Given the description of an element on the screen output the (x, y) to click on. 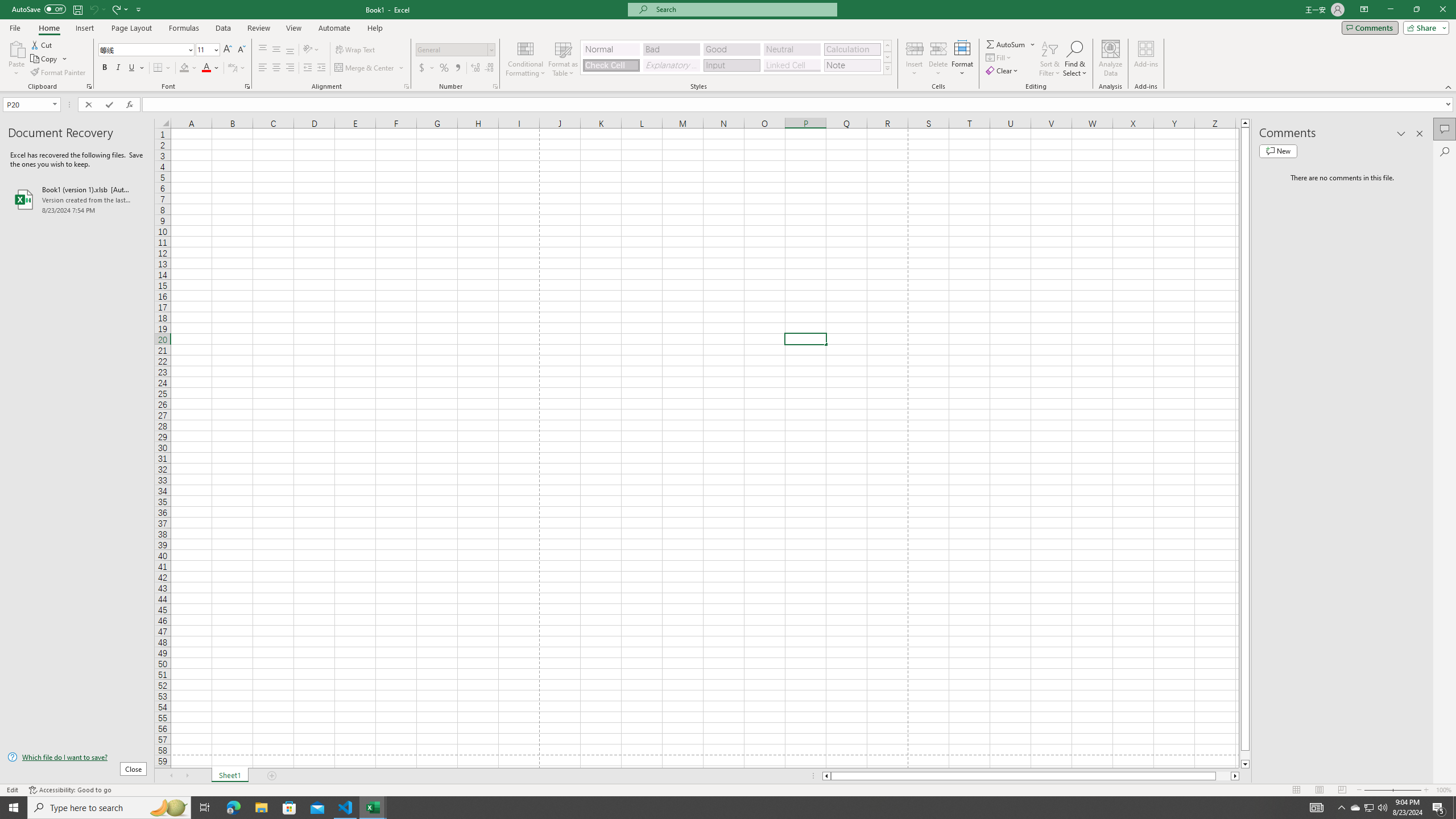
Cut (42, 44)
Font (147, 49)
Scroll Right (187, 775)
Formulas (184, 28)
Insert (83, 28)
Font Color RGB(255, 0, 0) (206, 67)
Wrap Text (355, 49)
Book1 (version 1).xlsb  [AutoRecovered] (77, 199)
Help (374, 28)
Which file do I want to save? (77, 757)
Column left (826, 775)
Row up (887, 45)
Zoom In (1426, 790)
Check Cell (611, 65)
Comma Style (457, 67)
